Given the description of an element on the screen output the (x, y) to click on. 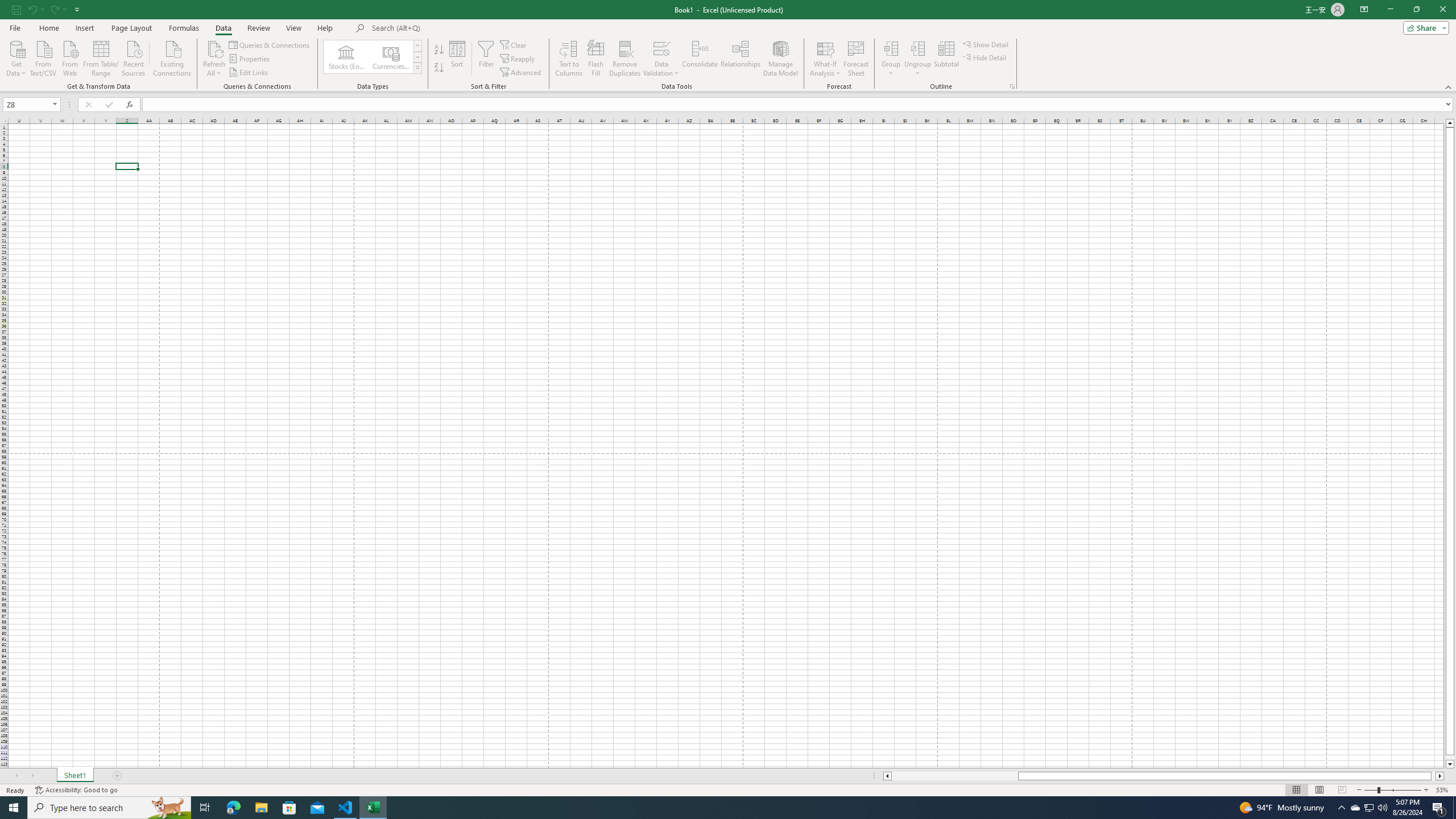
Currencies (English) (390, 56)
Forecast Sheet (856, 58)
Collapse the Ribbon (1448, 86)
Ungroup... (917, 48)
AutomationID: ConvertToLinkedEntity (372, 56)
Page left (954, 775)
Advanced... (520, 72)
Filter (485, 58)
Accessibility Checker Accessibility: Good to go (76, 790)
